Given the description of an element on the screen output the (x, y) to click on. 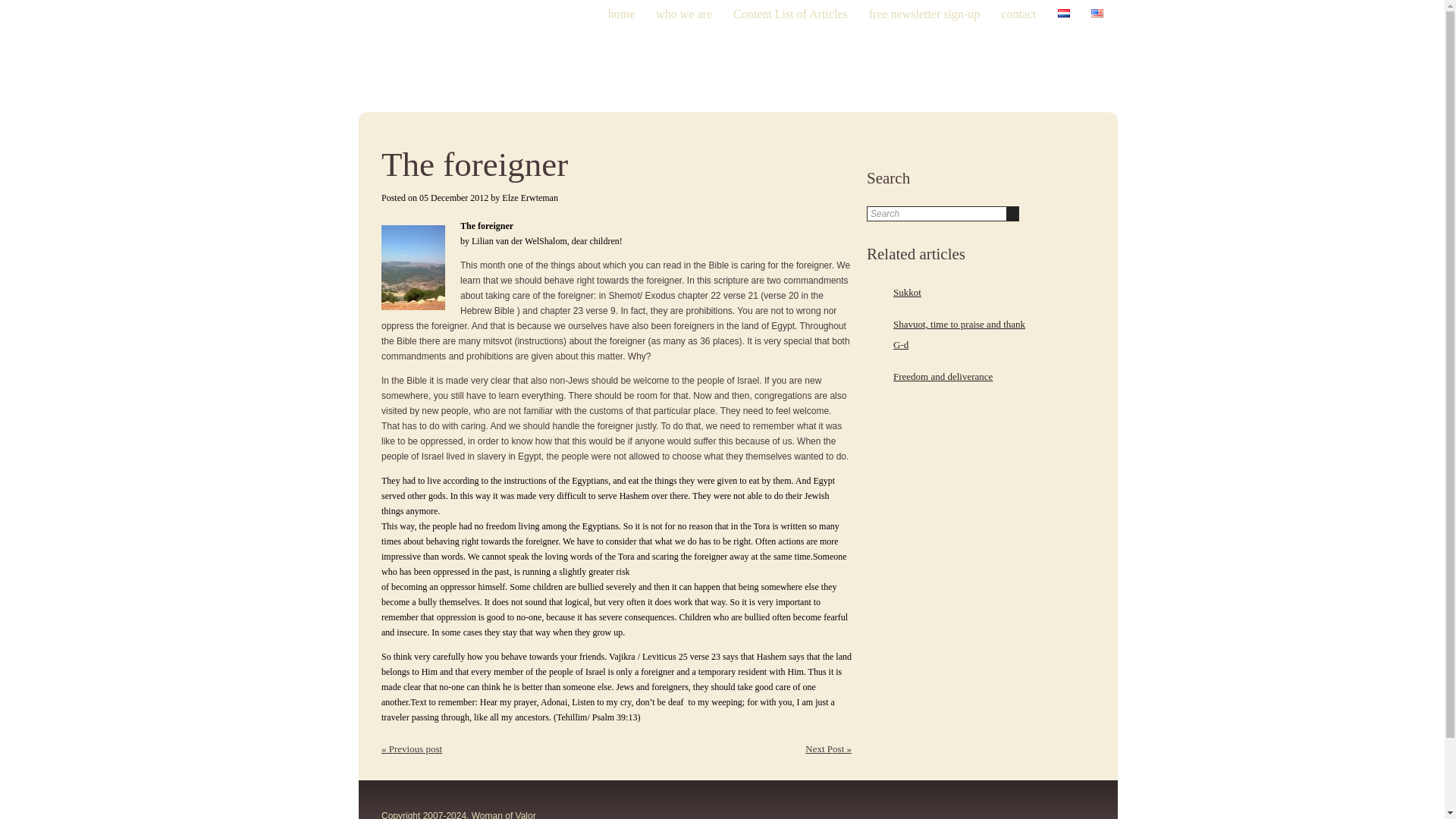
Search (936, 213)
Sukkot (907, 292)
who we are (683, 22)
Shavuot, time to praise and thank G-d (959, 334)
Content List of Articles (790, 22)
free newsletter sign-up (924, 22)
Freedom and deliverance (942, 376)
